Given the description of an element on the screen output the (x, y) to click on. 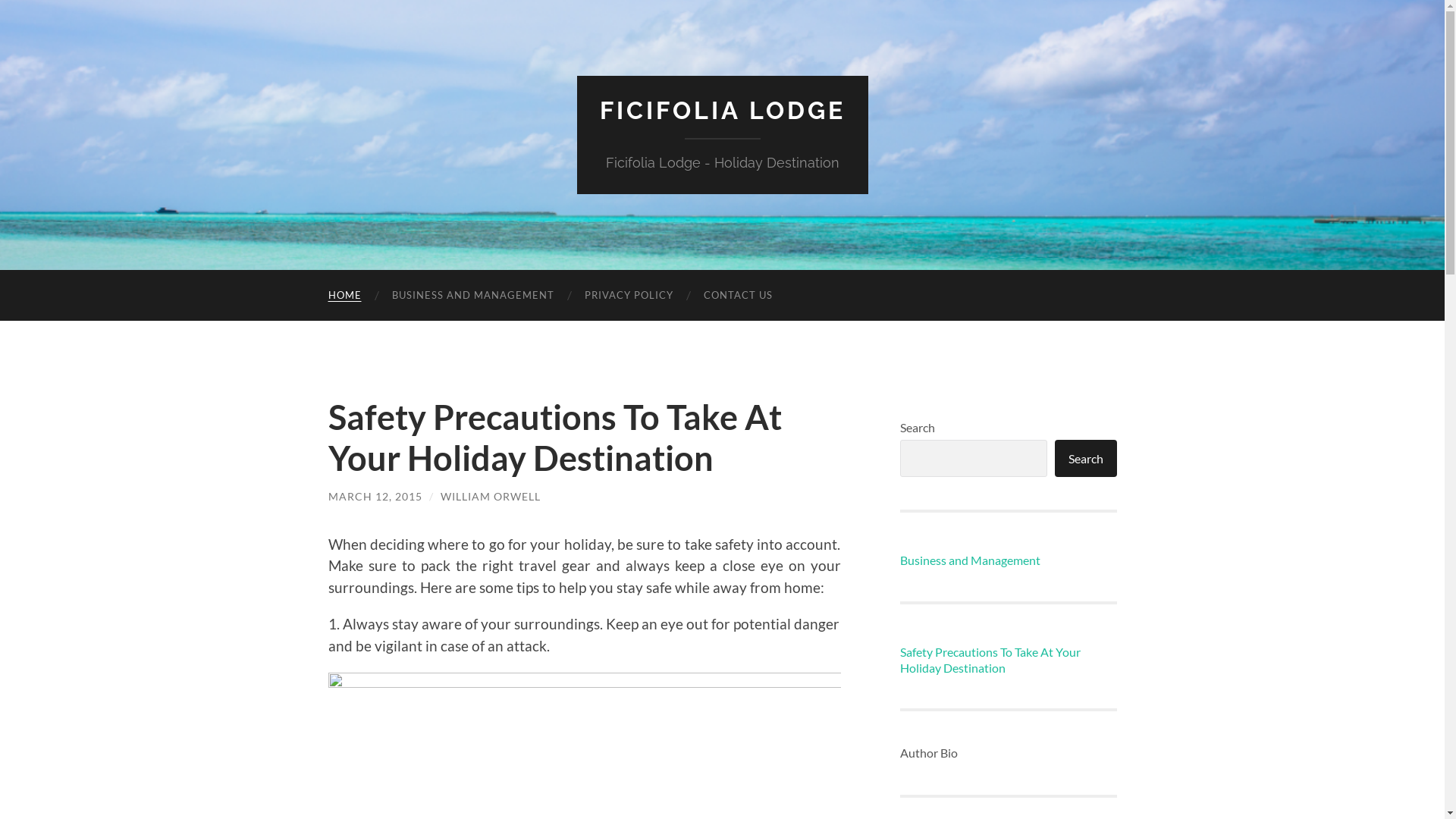
Safety Precautions To Take At Your Holiday Destination Element type: text (554, 437)
Safety Precautions To Take At Your Holiday Destination Element type: text (1007, 660)
Business and Management Element type: text (969, 559)
PRIVACY POLICY Element type: text (627, 294)
FICIFOLIA LODGE Element type: text (721, 110)
WILLIAM ORWELL Element type: text (489, 495)
CONTACT US Element type: text (737, 294)
BUSINESS AND MANAGEMENT Element type: text (472, 294)
HOME Element type: text (344, 294)
Search Element type: text (1085, 457)
MARCH 12, 2015 Element type: text (374, 495)
